Given the description of an element on the screen output the (x, y) to click on. 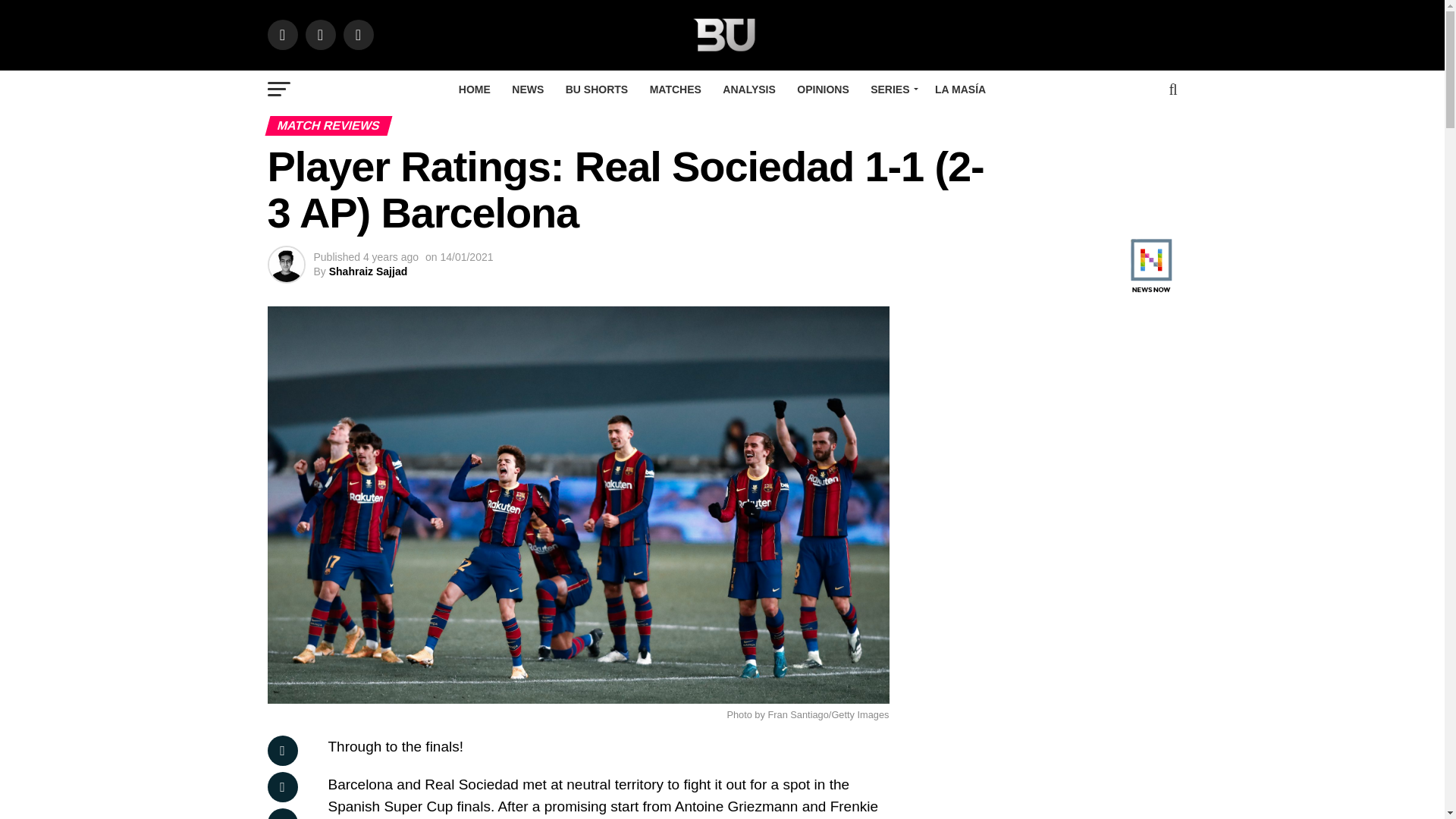
NEWS (527, 89)
Posts by Shahraiz Sajjad (368, 271)
HOME (474, 89)
BU SHORTS (596, 89)
